Given the description of an element on the screen output the (x, y) to click on. 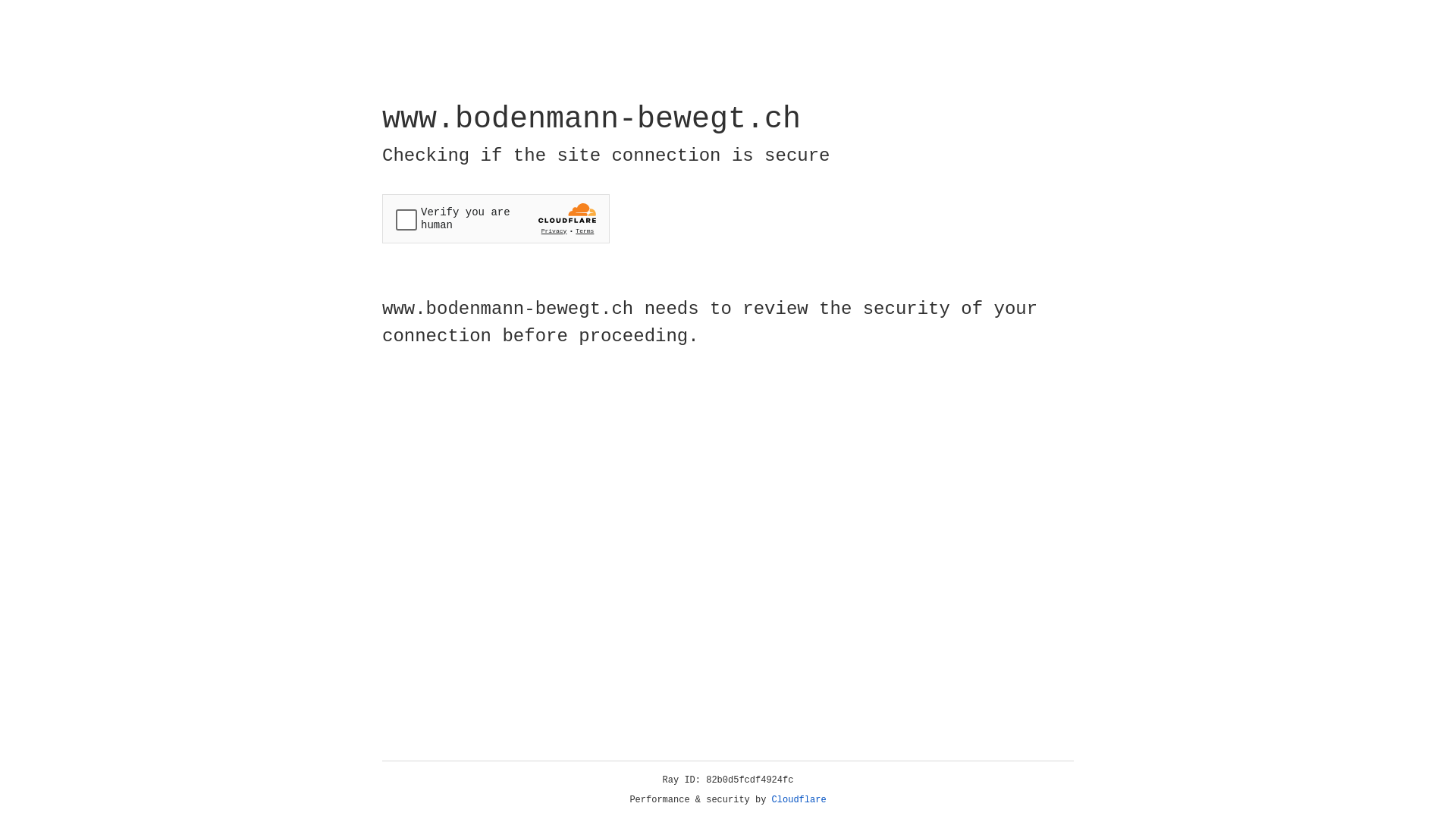
Widget containing a Cloudflare security challenge Element type: hover (495, 218)
Cloudflare Element type: text (798, 799)
